Given the description of an element on the screen output the (x, y) to click on. 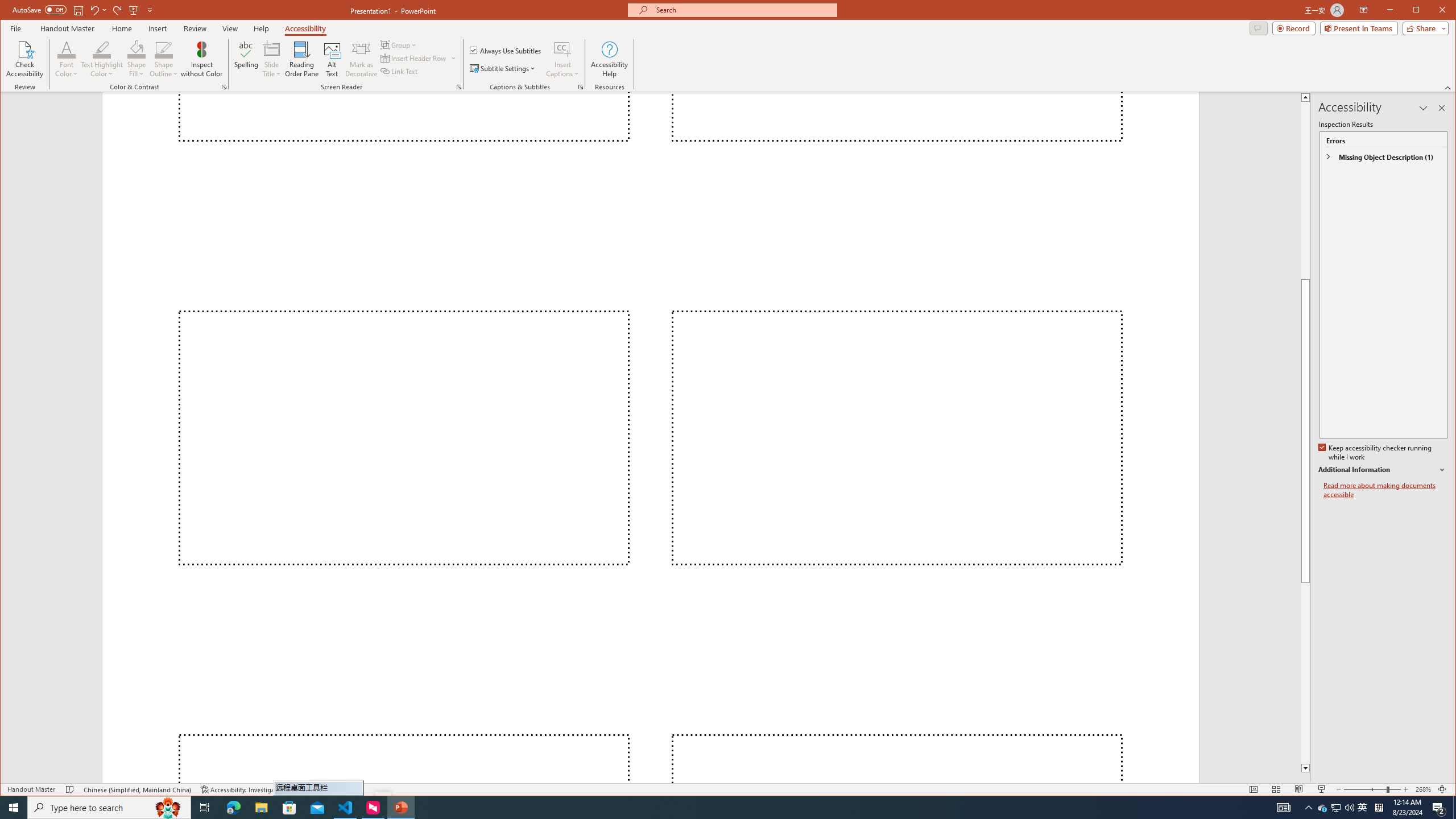
Text Highlight Color (102, 48)
Type here to search (108, 807)
Microsoft Edge (233, 807)
Running applications (1362, 807)
Text Highlight Color (700, 807)
